Given the description of an element on the screen output the (x, y) to click on. 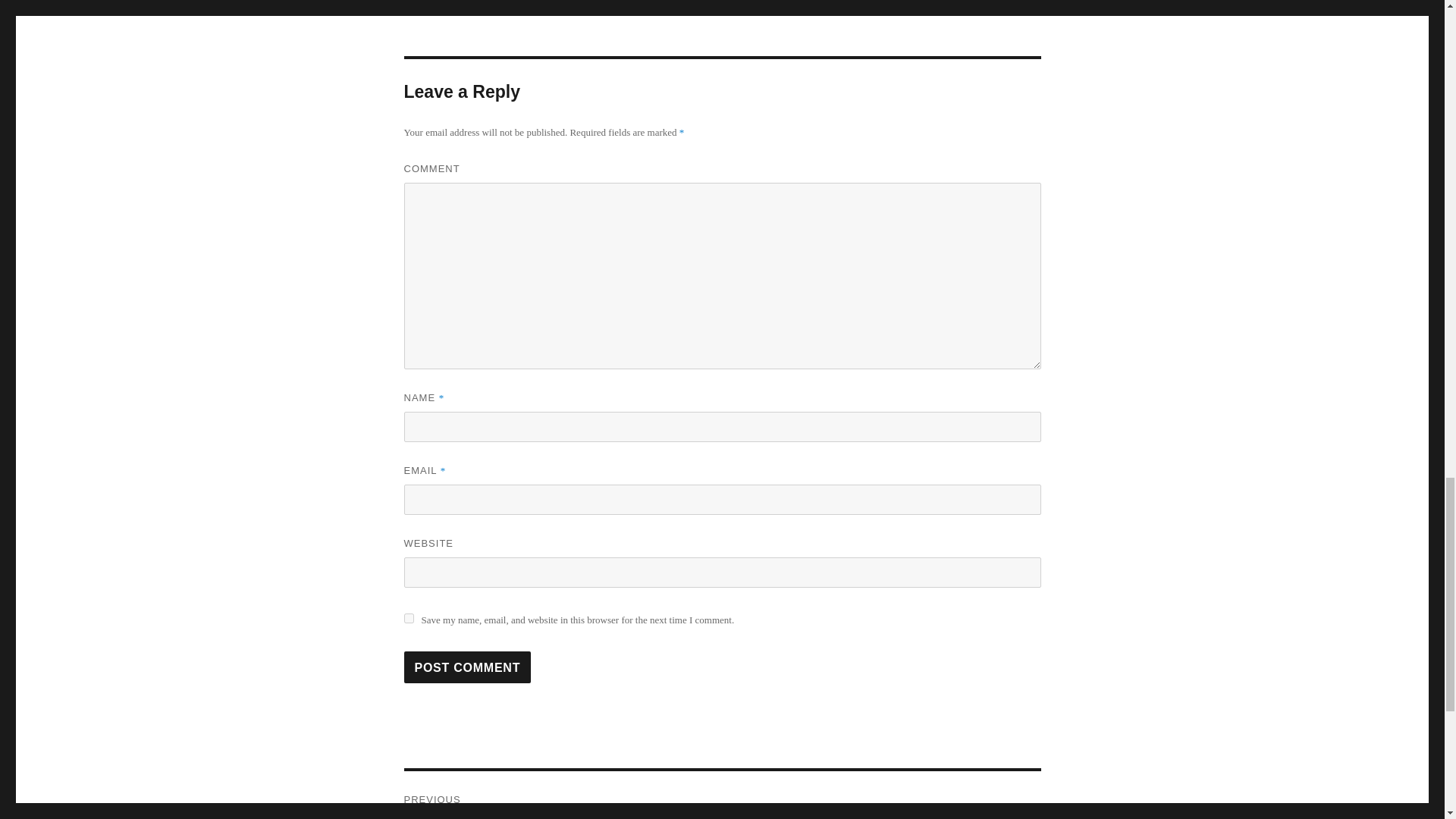
Post Comment (467, 667)
Post Comment (467, 667)
yes (408, 618)
